Given the description of an element on the screen output the (x, y) to click on. 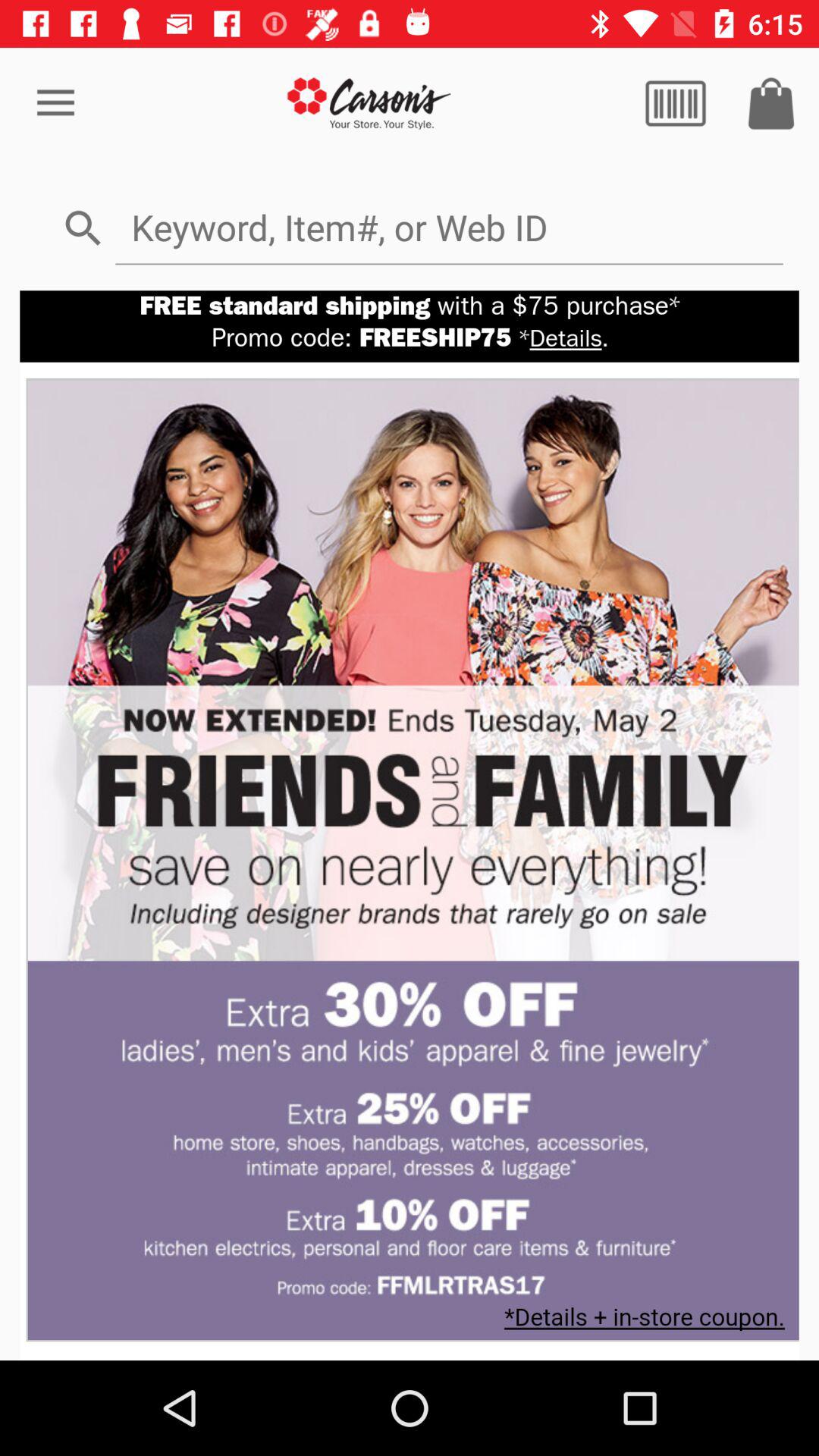
filter (675, 103)
